Given the description of an element on the screen output the (x, y) to click on. 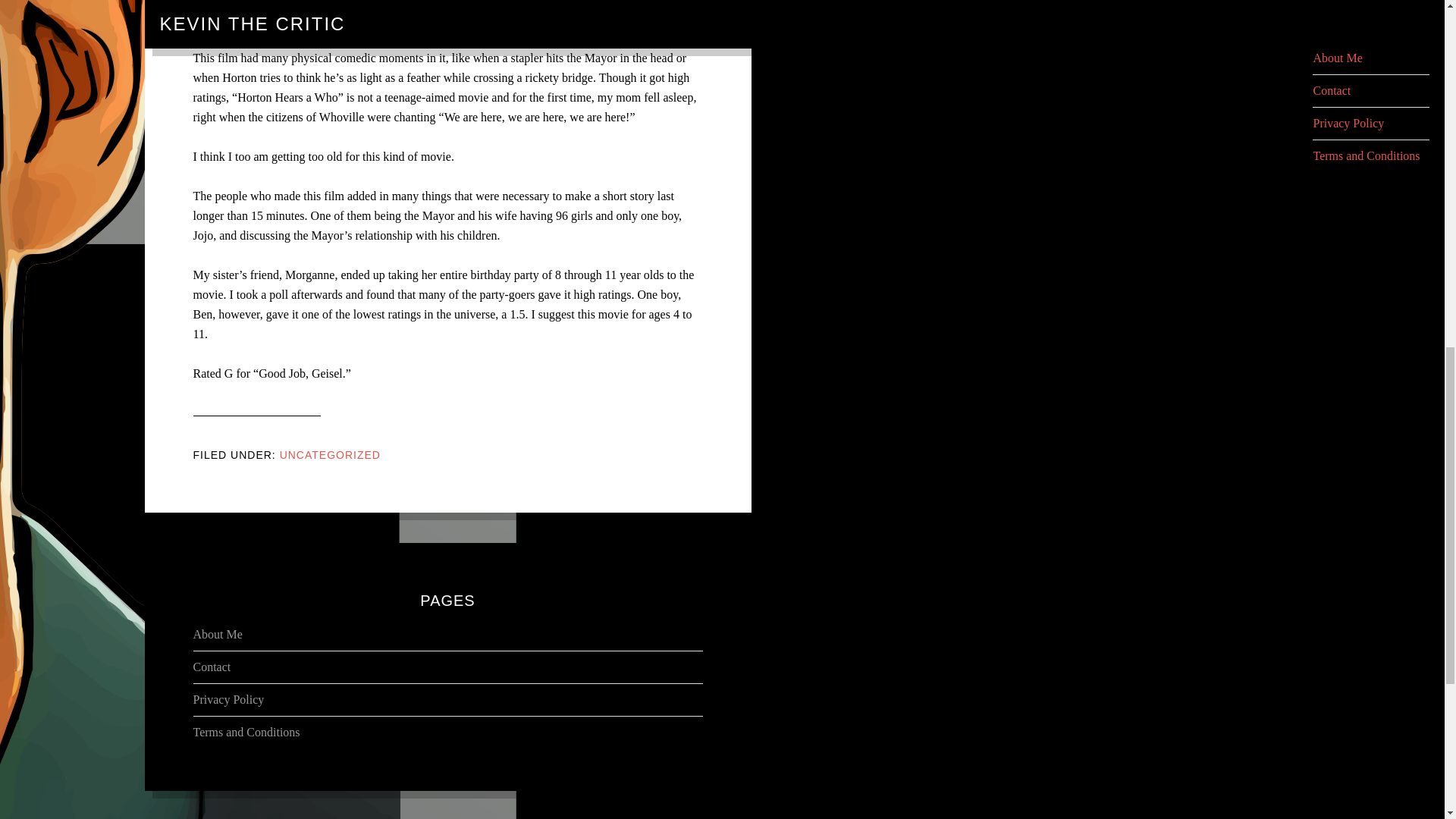
Contact (211, 666)
About Me (216, 634)
Privacy Policy (227, 698)
Terms and Conditions (245, 731)
UNCATEGORIZED (329, 454)
